Given the description of an element on the screen output the (x, y) to click on. 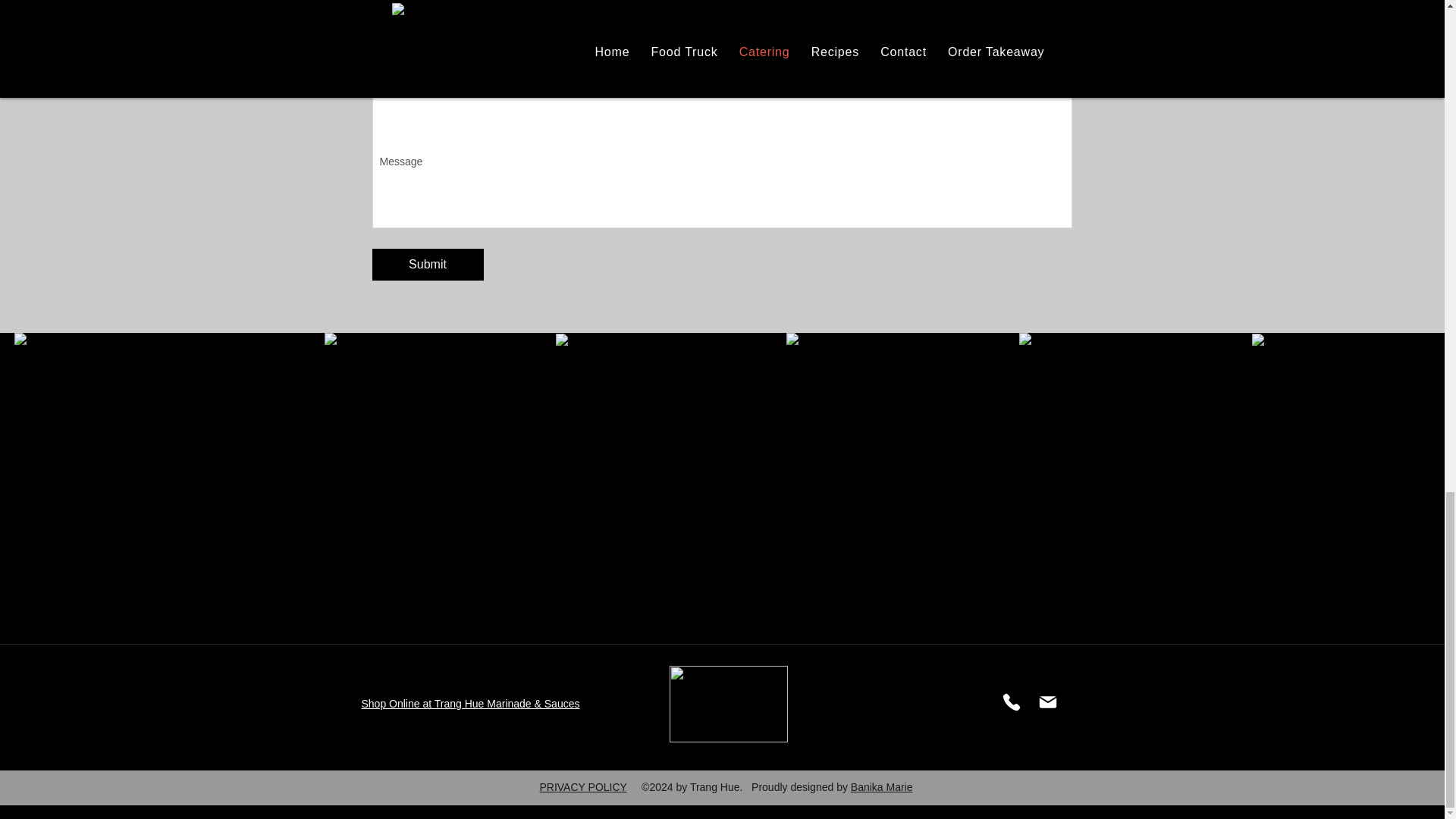
Banika Marie (881, 787)
Submit (427, 264)
PRIVACY POLICY (582, 787)
